Given the description of an element on the screen output the (x, y) to click on. 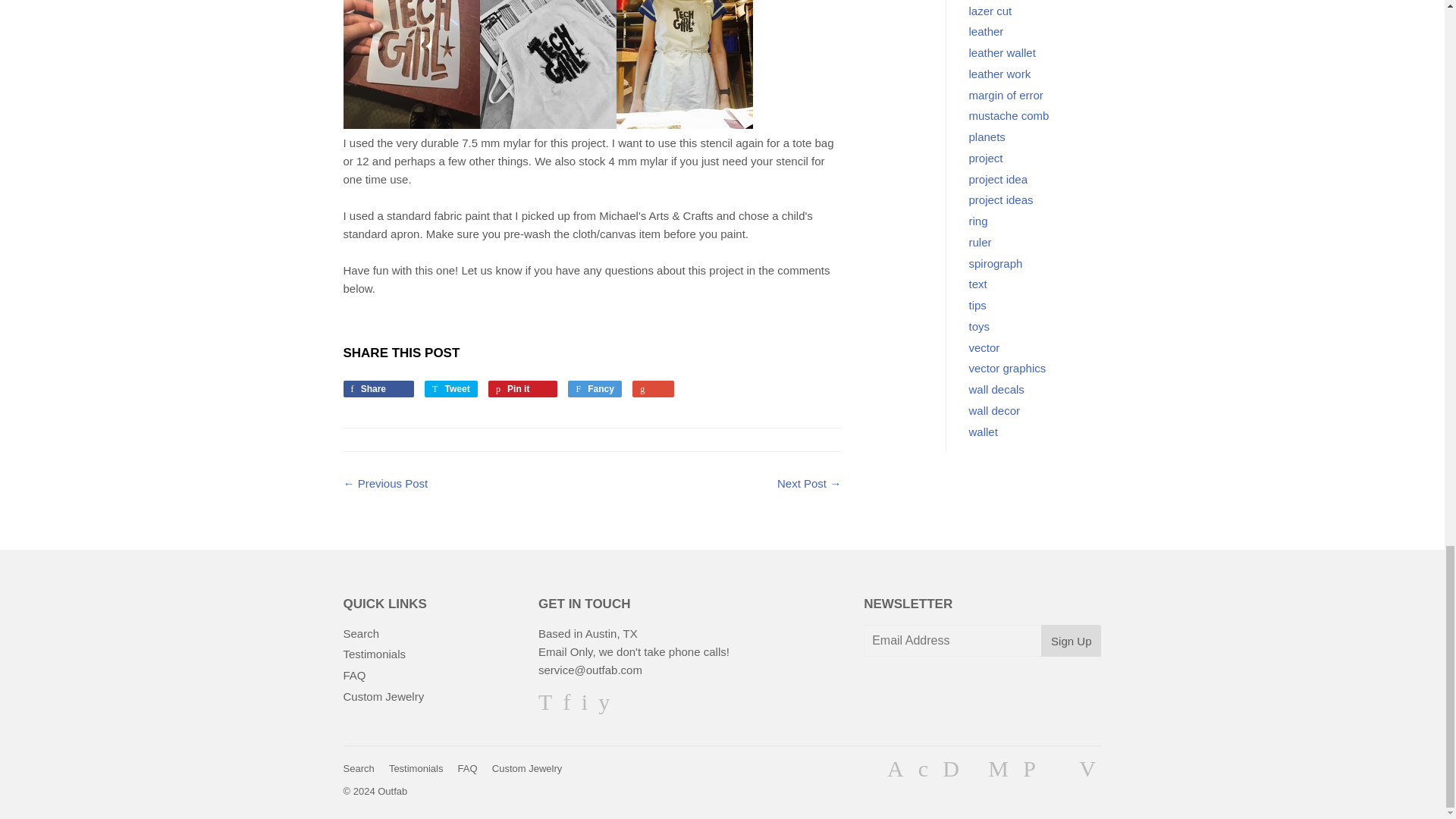
Share (377, 388)
Fancy (594, 388)
Tweet (451, 388)
Pin it (522, 388)
